Given the description of an element on the screen output the (x, y) to click on. 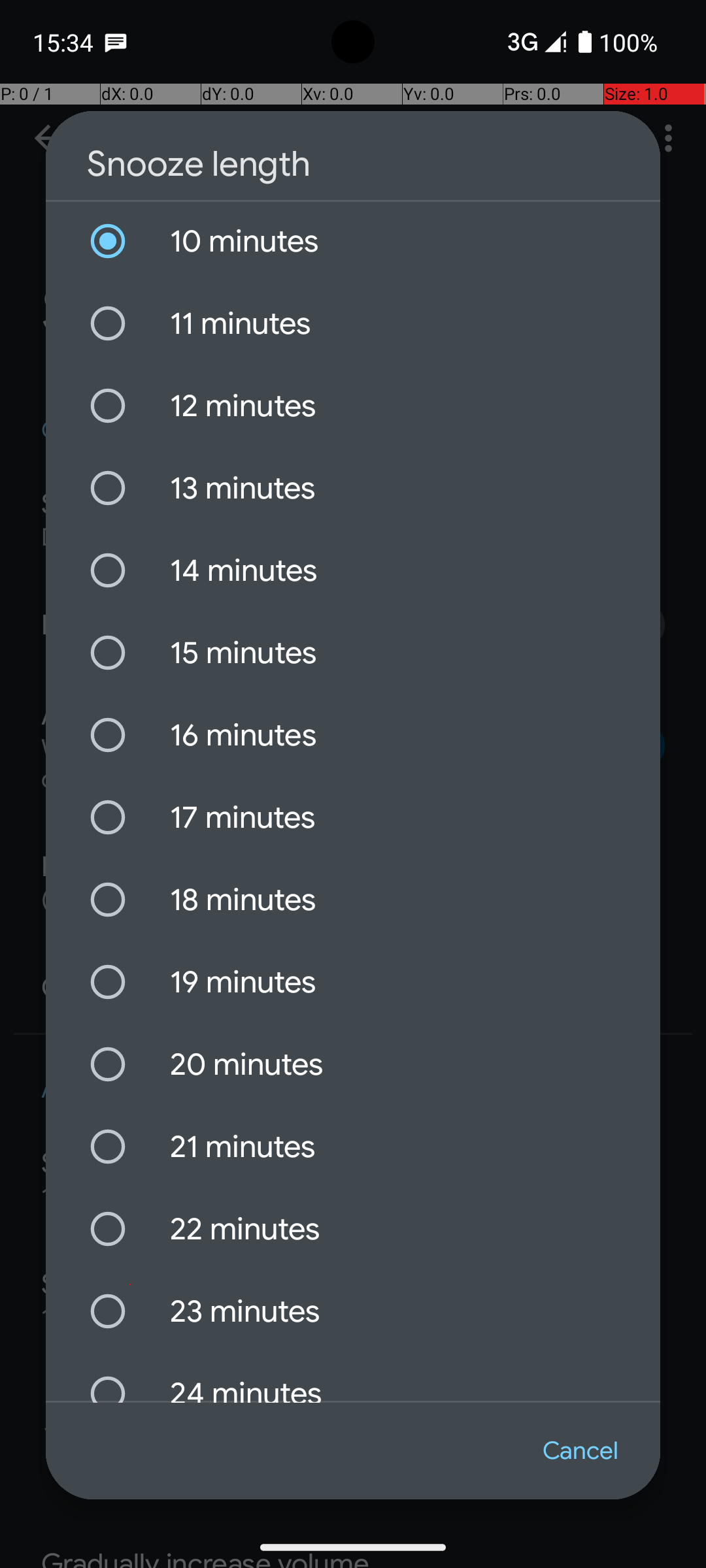
Snooze length Element type: android.widget.TextView (352, 163)
10 minutes Element type: android.widget.CheckedTextView (352, 240)
11 minutes Element type: android.widget.CheckedTextView (352, 323)
12 minutes Element type: android.widget.CheckedTextView (352, 405)
13 minutes Element type: android.widget.CheckedTextView (352, 487)
14 minutes Element type: android.widget.CheckedTextView (352, 570)
15 minutes Element type: android.widget.CheckedTextView (352, 652)
16 minutes Element type: android.widget.CheckedTextView (352, 734)
17 minutes Element type: android.widget.CheckedTextView (352, 817)
18 minutes Element type: android.widget.CheckedTextView (352, 899)
19 minutes Element type: android.widget.CheckedTextView (352, 981)
20 minutes Element type: android.widget.CheckedTextView (352, 1064)
21 minutes Element type: android.widget.CheckedTextView (352, 1146)
22 minutes Element type: android.widget.CheckedTextView (352, 1228)
23 minutes Element type: android.widget.CheckedTextView (352, 1311)
24 minutes Element type: android.widget.CheckedTextView (352, 1377)
